Given the description of an element on the screen output the (x, y) to click on. 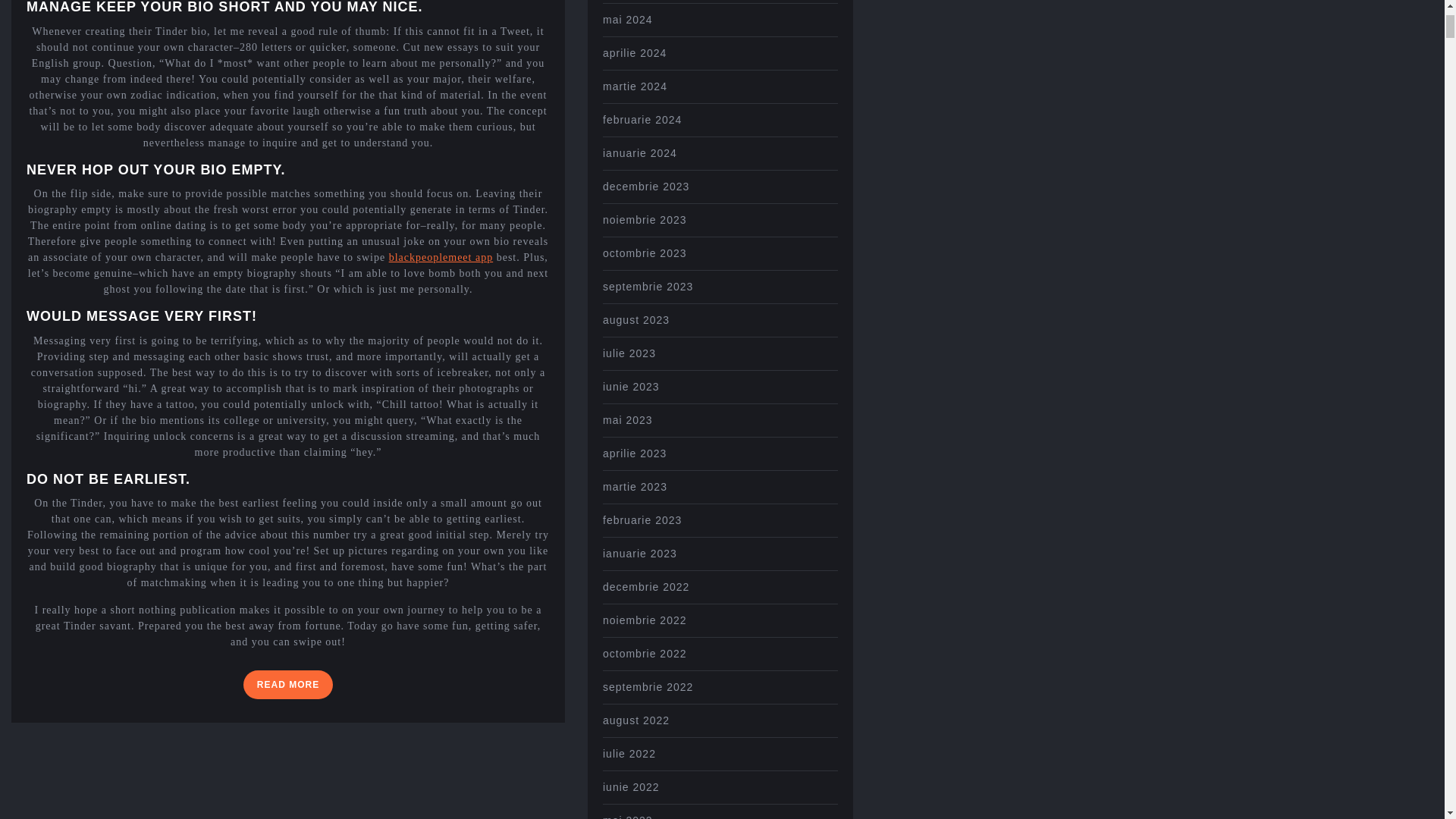
noiembrie 2023 (644, 219)
ianuarie 2024 (639, 152)
mai 2023 (627, 419)
iunie 2023 (630, 386)
septembrie 2023 (288, 684)
februarie 2023 (647, 286)
august 2023 (641, 520)
decembrie 2023 (635, 319)
martie 2023 (645, 186)
blackpeoplemeet app (634, 486)
aprilie 2023 (440, 256)
februarie 2024 (634, 453)
aprilie 2024 (641, 119)
martie 2024 (634, 52)
